Given the description of an element on the screen output the (x, y) to click on. 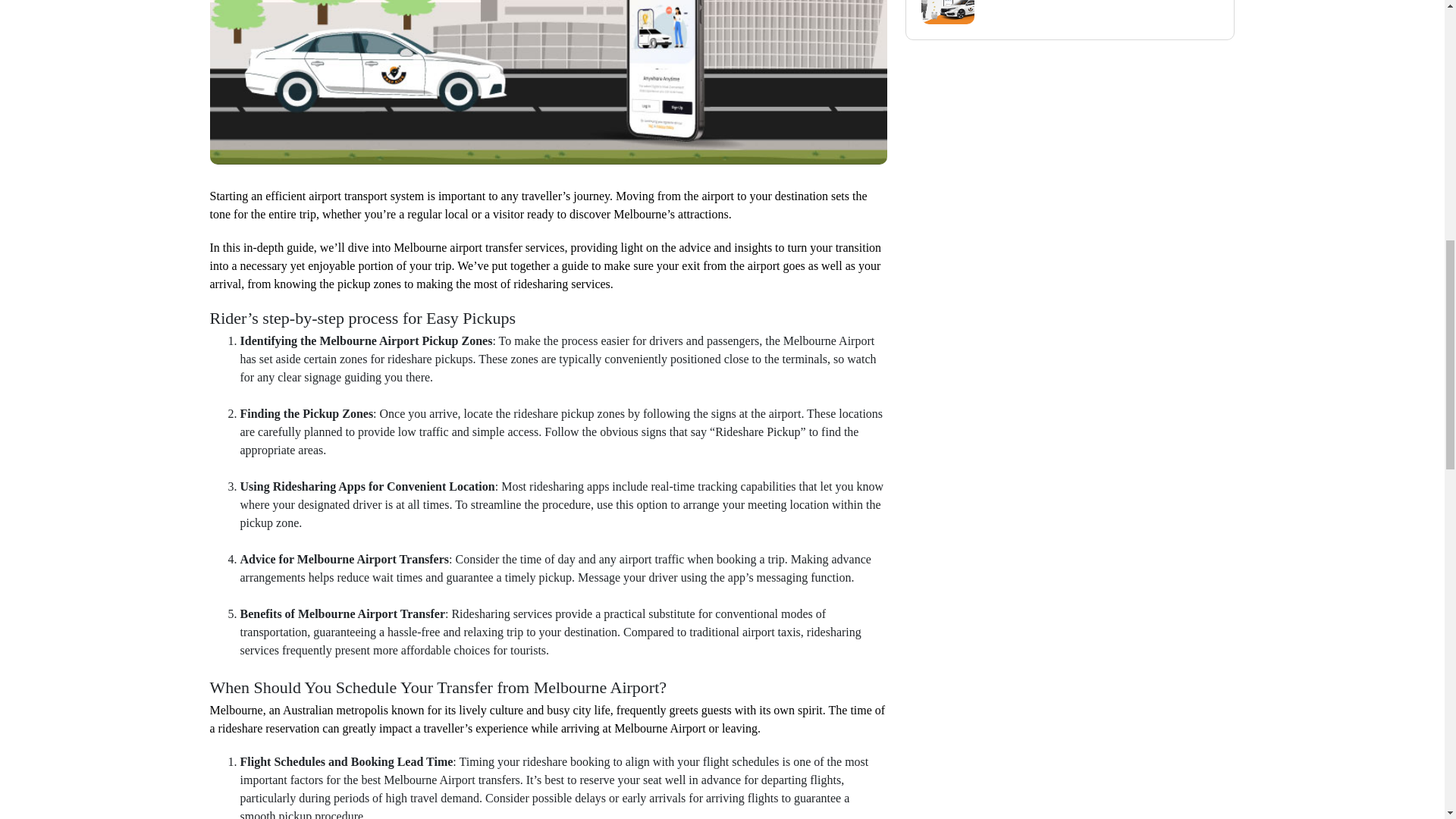
Melbourne airport transfer services (478, 248)
